Given the description of an element on the screen output the (x, y) to click on. 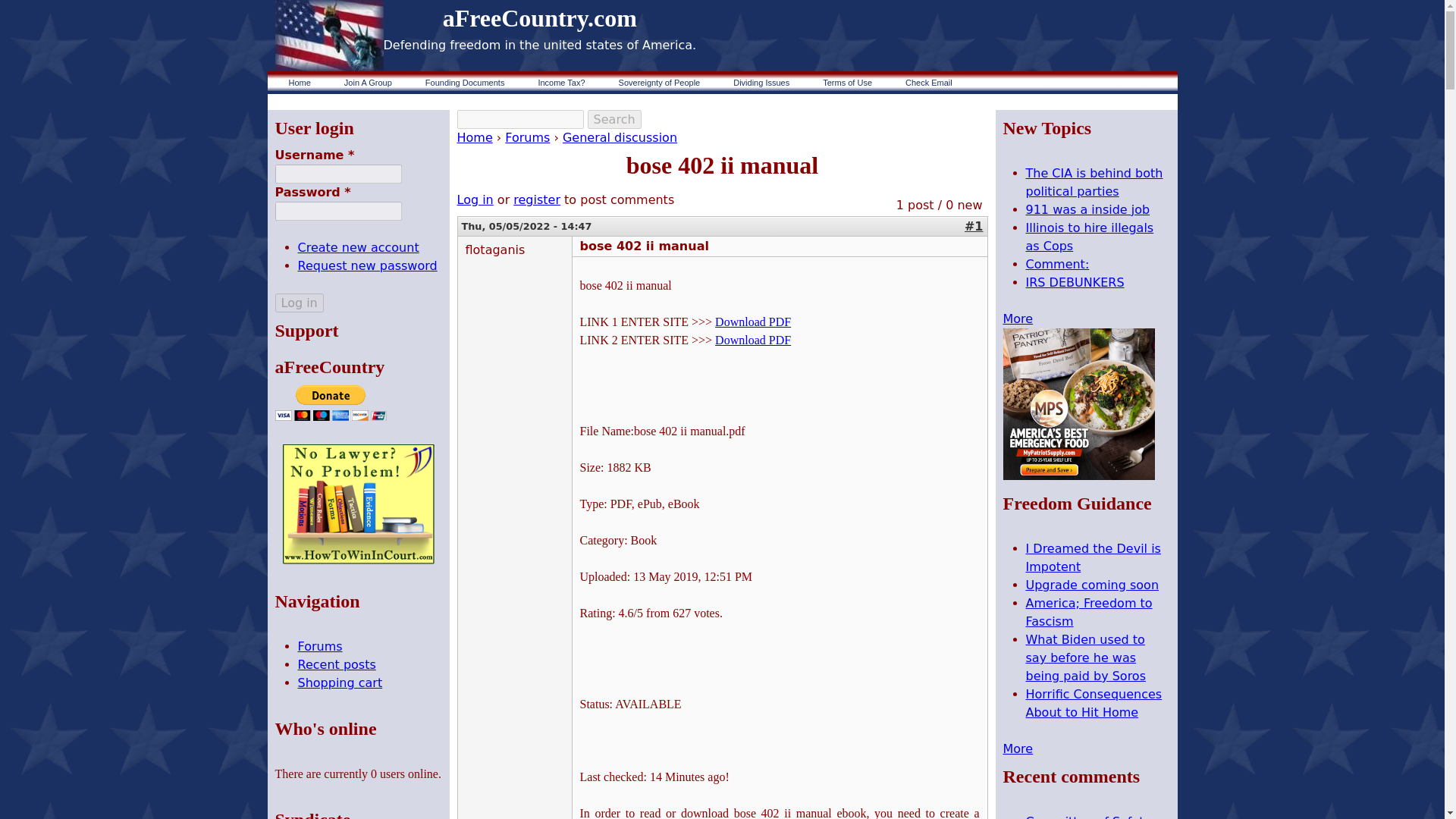
aFreeCountry.com (539, 17)
Home (474, 137)
Log in (475, 199)
Enter the terms you wish to search for. (520, 118)
Log in (299, 302)
Forums (527, 137)
To pay or not to pay? (561, 81)
Create of join a group or grand jury on aFreeCountry.com. (368, 81)
register (536, 199)
Home (299, 81)
